Given the description of an element on the screen output the (x, y) to click on. 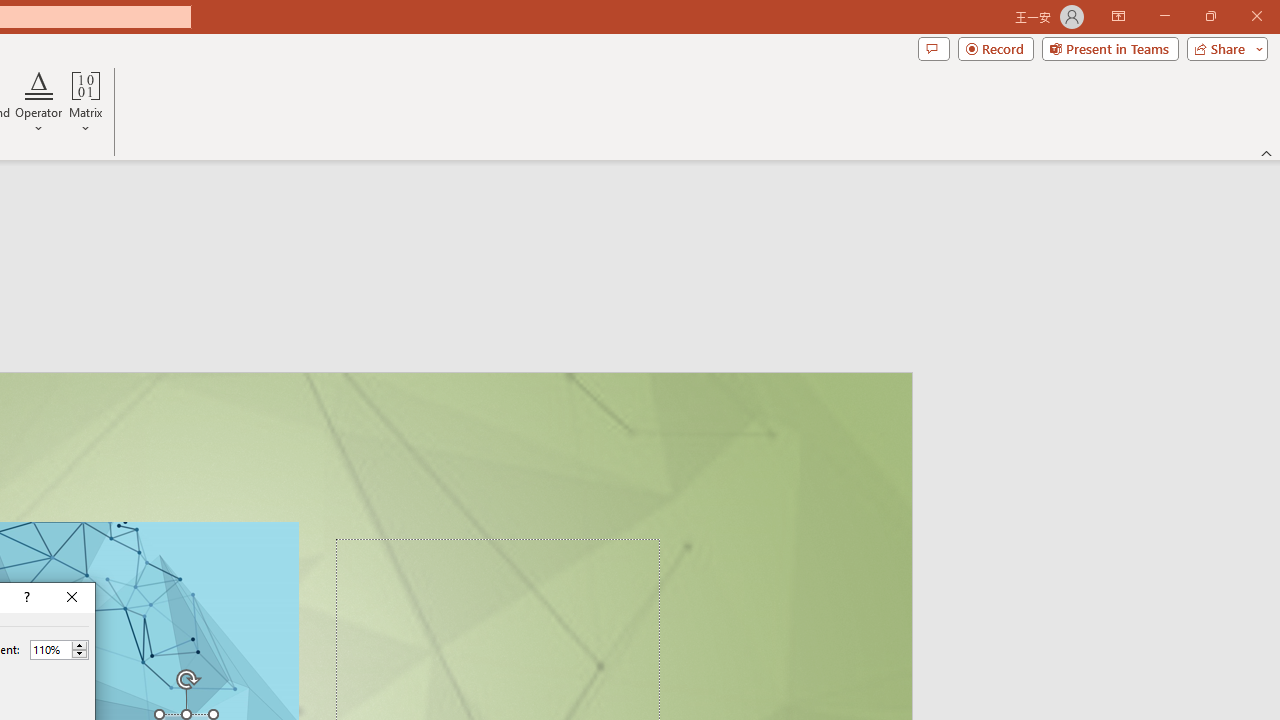
Operator (38, 102)
Context help (25, 597)
Percent (50, 649)
